Given the description of an element on the screen output the (x, y) to click on. 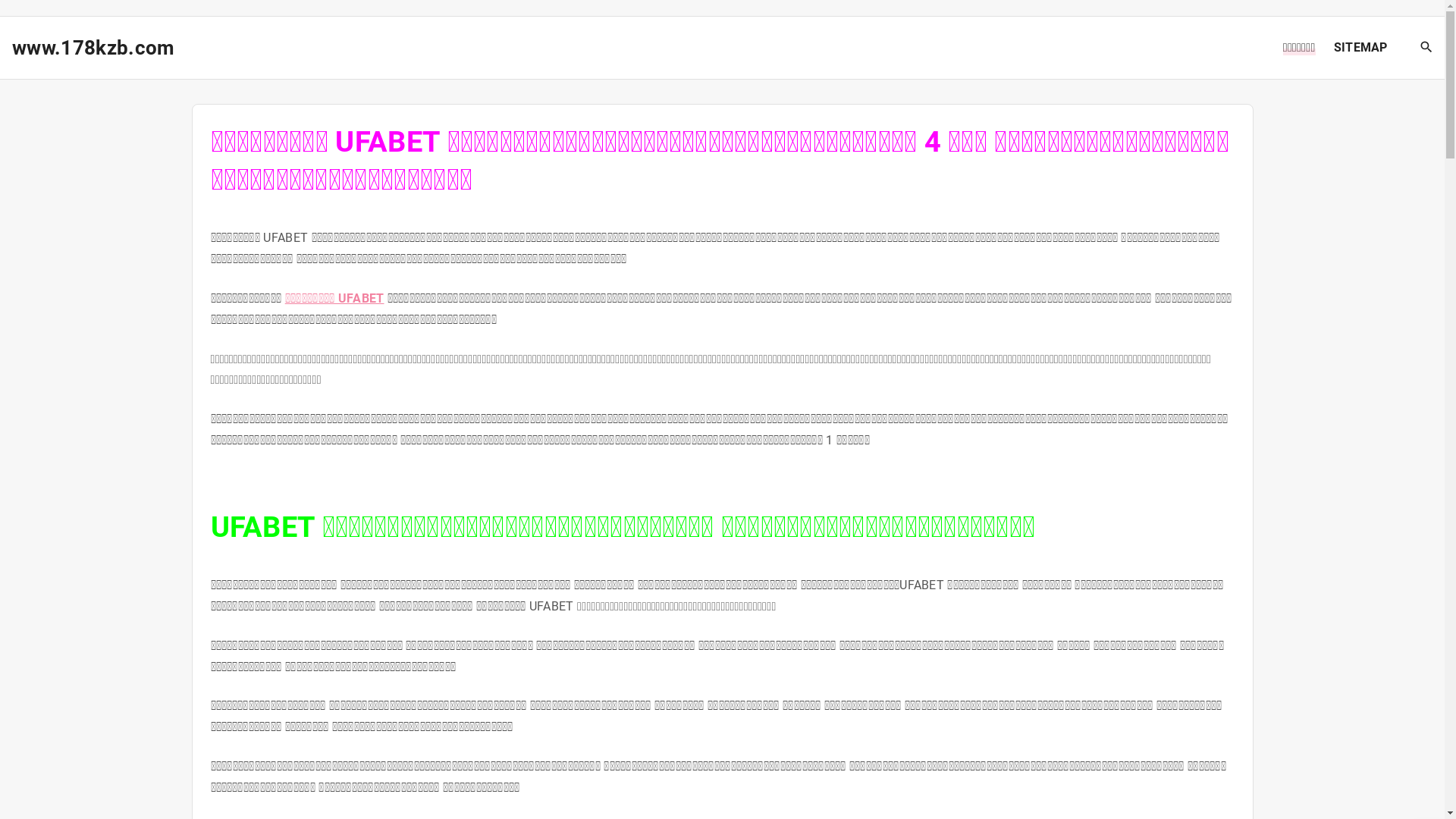
www.178kzb.com Element type: text (93, 47)
SITEMAP Element type: text (1360, 47)
